Given the description of an element on the screen output the (x, y) to click on. 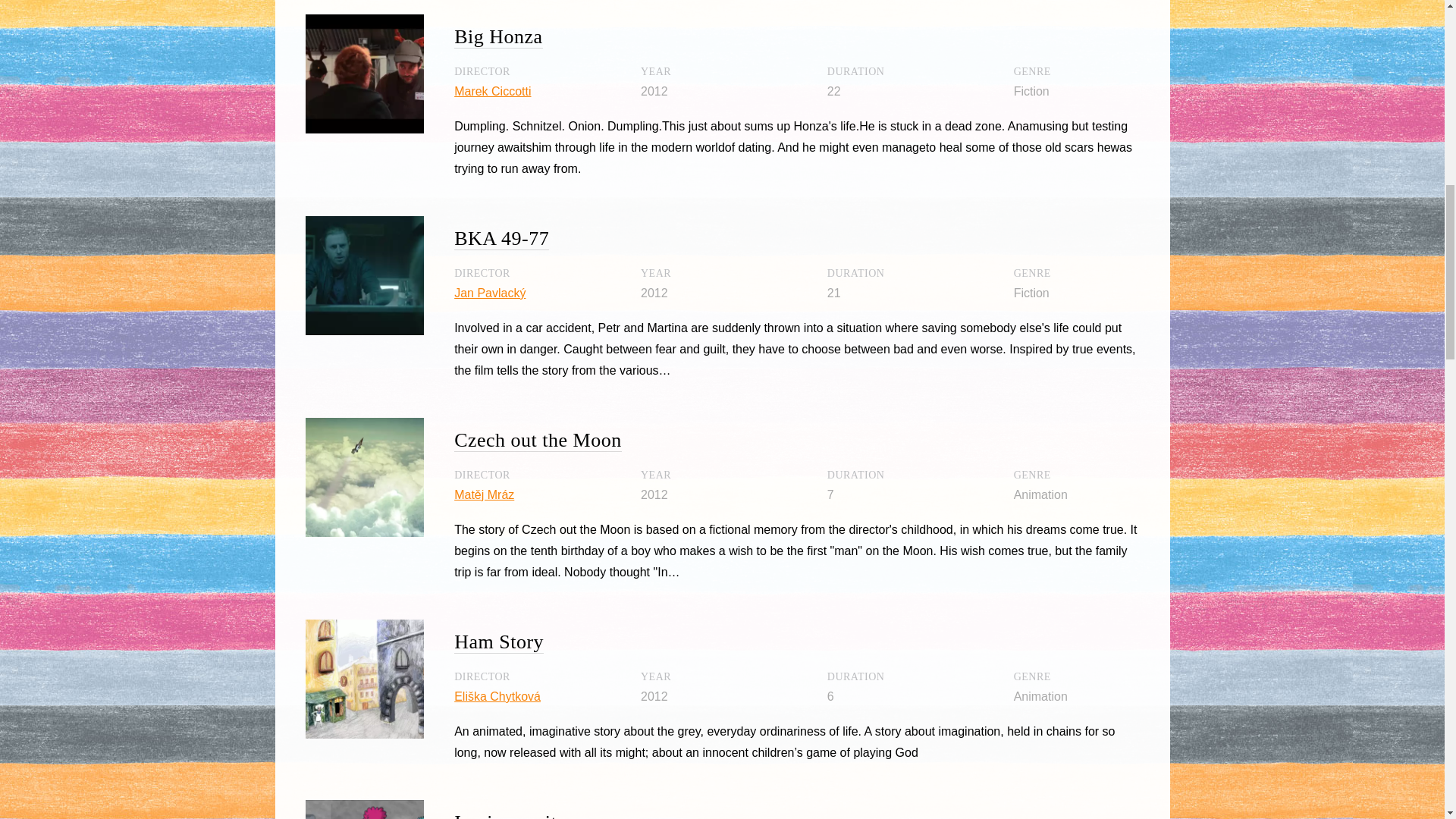
Ham Story (498, 641)
Czech out the Moon (537, 440)
BKA 49-77 (501, 238)
Big Honza (497, 36)
In vino veritas (513, 815)
Marek Ciccotti (492, 91)
